Given the description of an element on the screen output the (x, y) to click on. 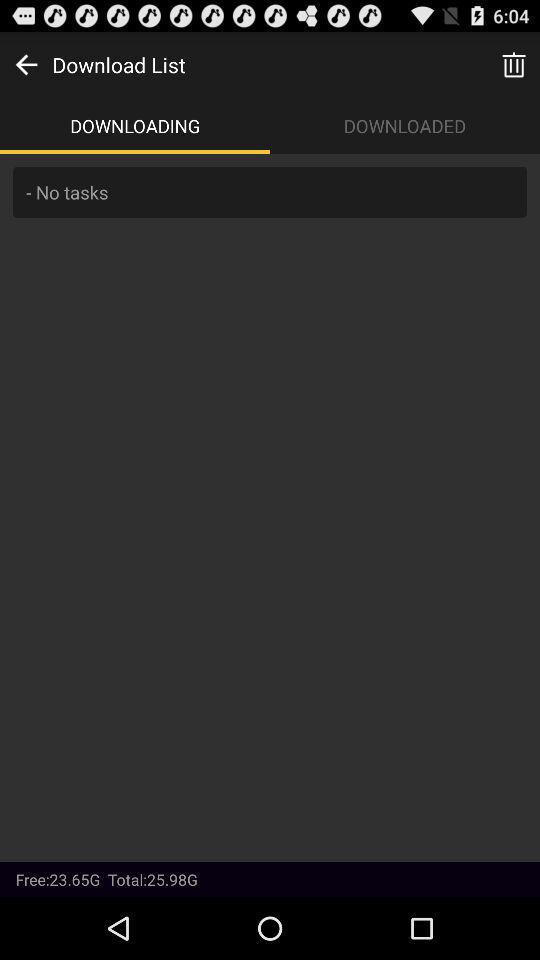
back (26, 64)
